Given the description of an element on the screen output the (x, y) to click on. 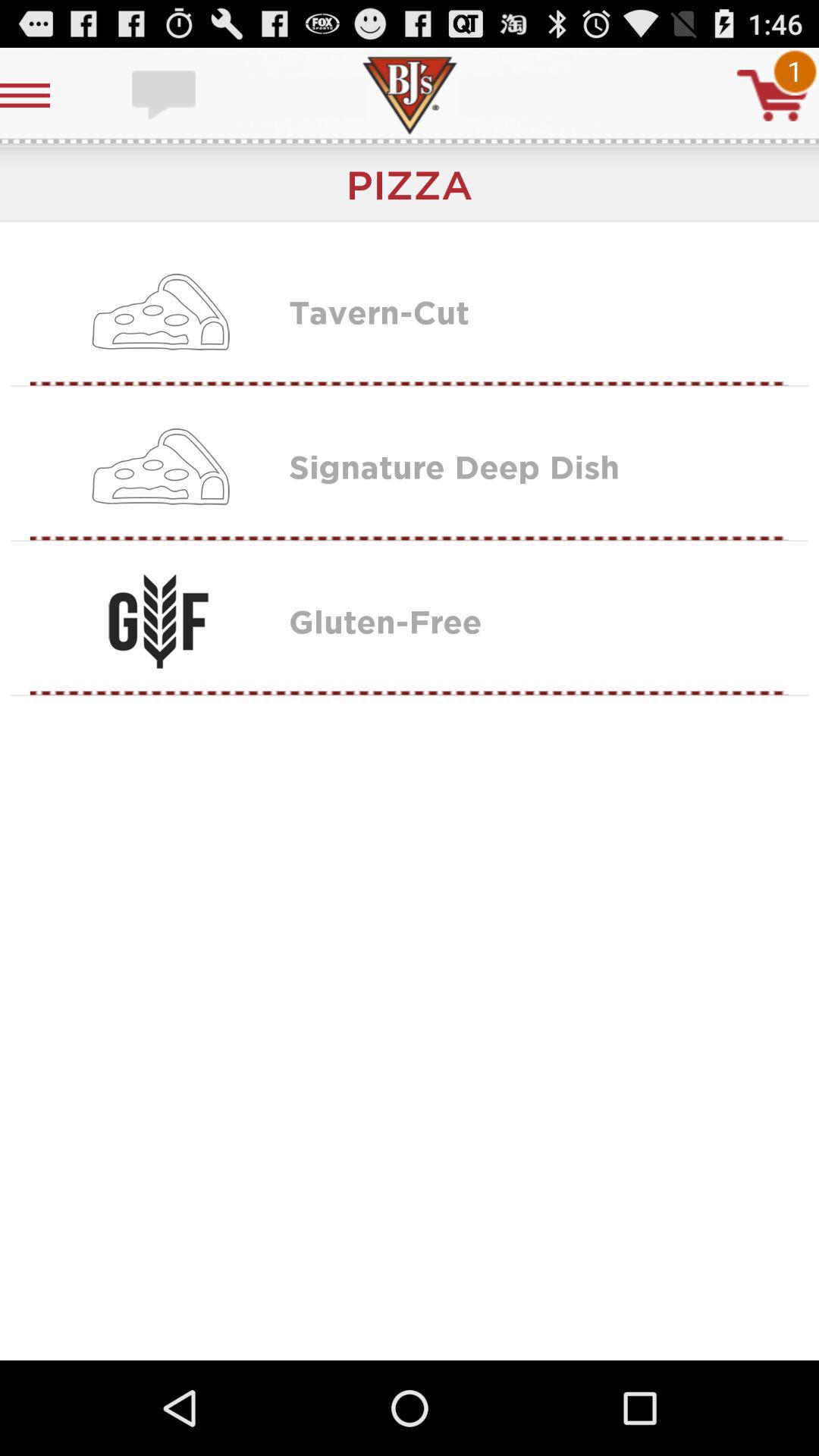
inbox (165, 95)
